Given the description of an element on the screen output the (x, y) to click on. 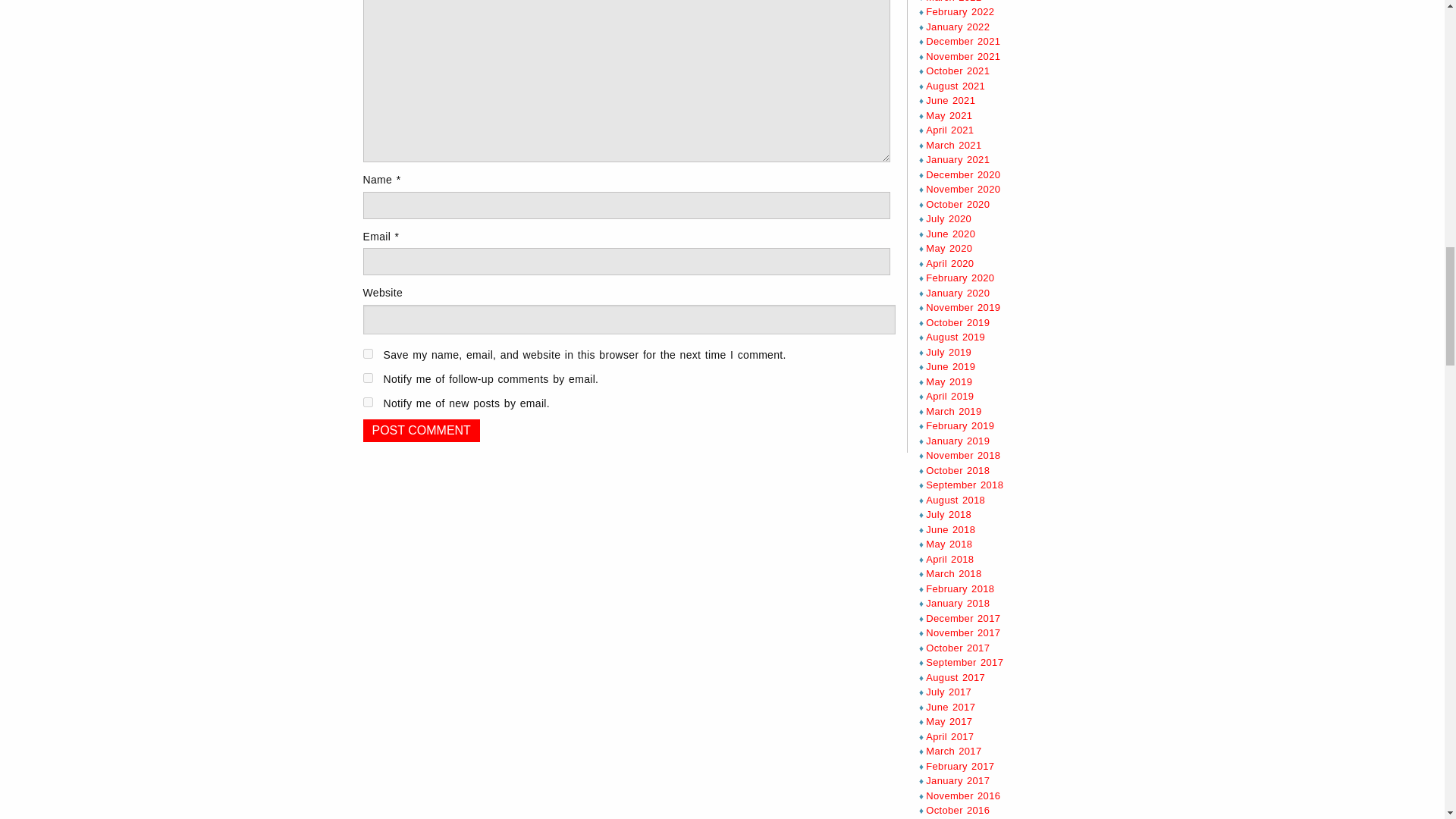
subscribe (367, 378)
subscribe (367, 402)
yes (367, 353)
Post Comment (420, 430)
